Given the description of an element on the screen output the (x, y) to click on. 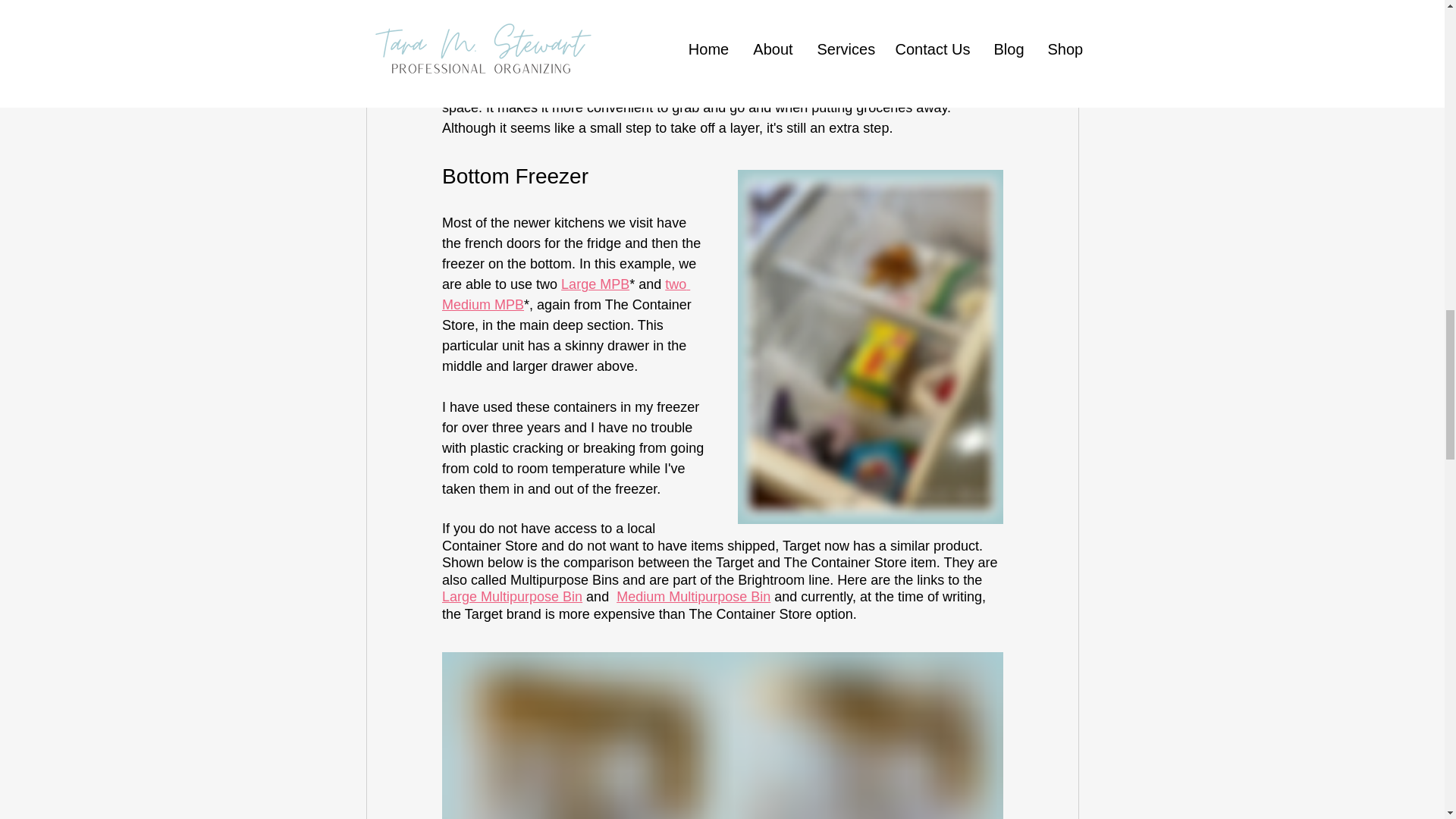
two Medium MPB (564, 294)
Large MPB (594, 283)
eight pack (488, 25)
individually (506, 6)
Medium Multipurpose Bin (692, 596)
four pack (673, 6)
Large Multipurpose Bin (510, 596)
two pack (604, 6)
